Given the description of an element on the screen output the (x, y) to click on. 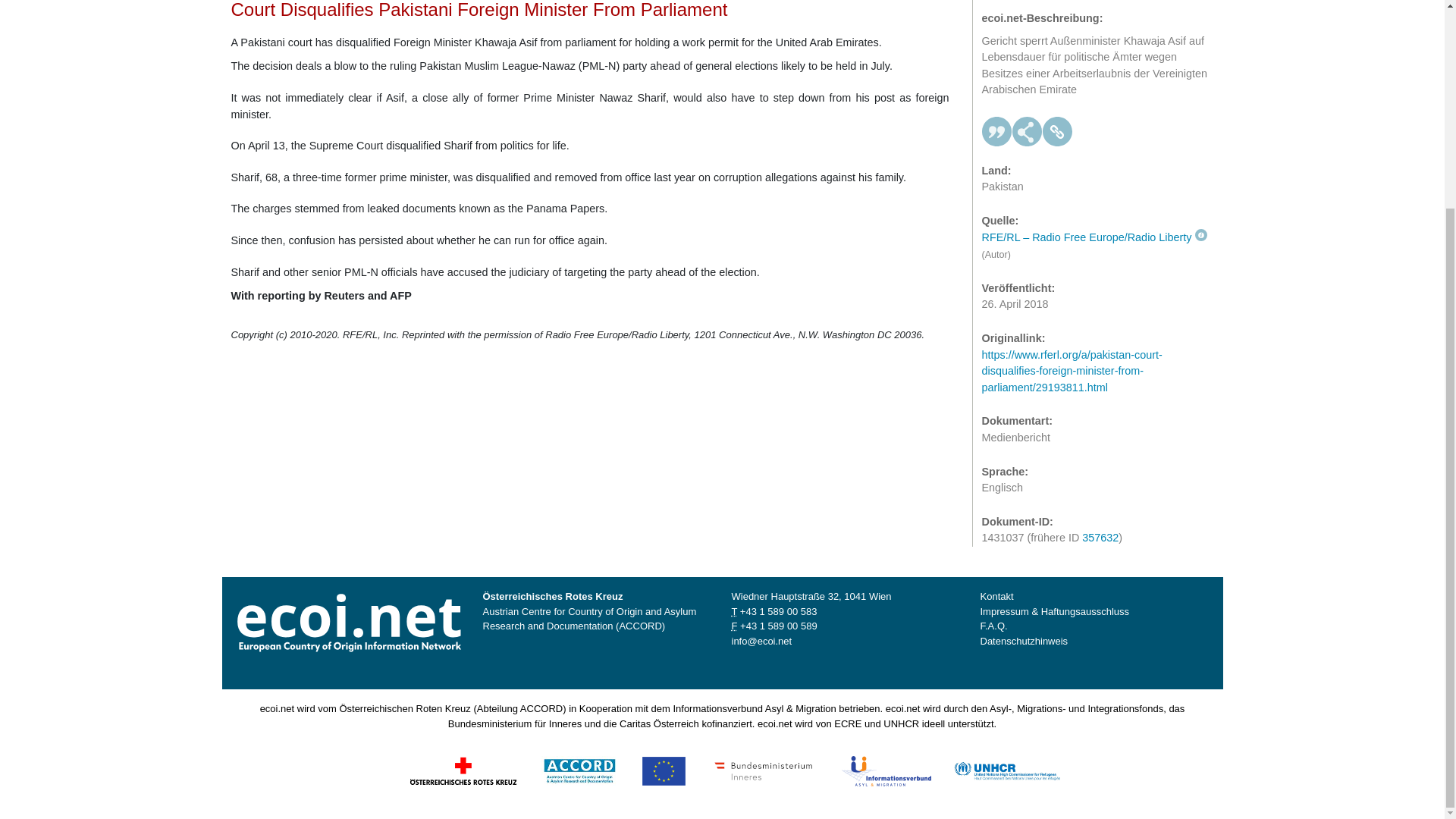
Fax (777, 625)
Datenschutzhinweis (1023, 641)
Permalink (1056, 119)
Kontakt (996, 595)
F.A.Q. (993, 625)
357632 (1099, 525)
UNHCR - The UN Refugee Agency (1006, 769)
Teilen (1026, 119)
Quellenbeschreibung lesen (1094, 224)
